Given the description of an element on the screen output the (x, y) to click on. 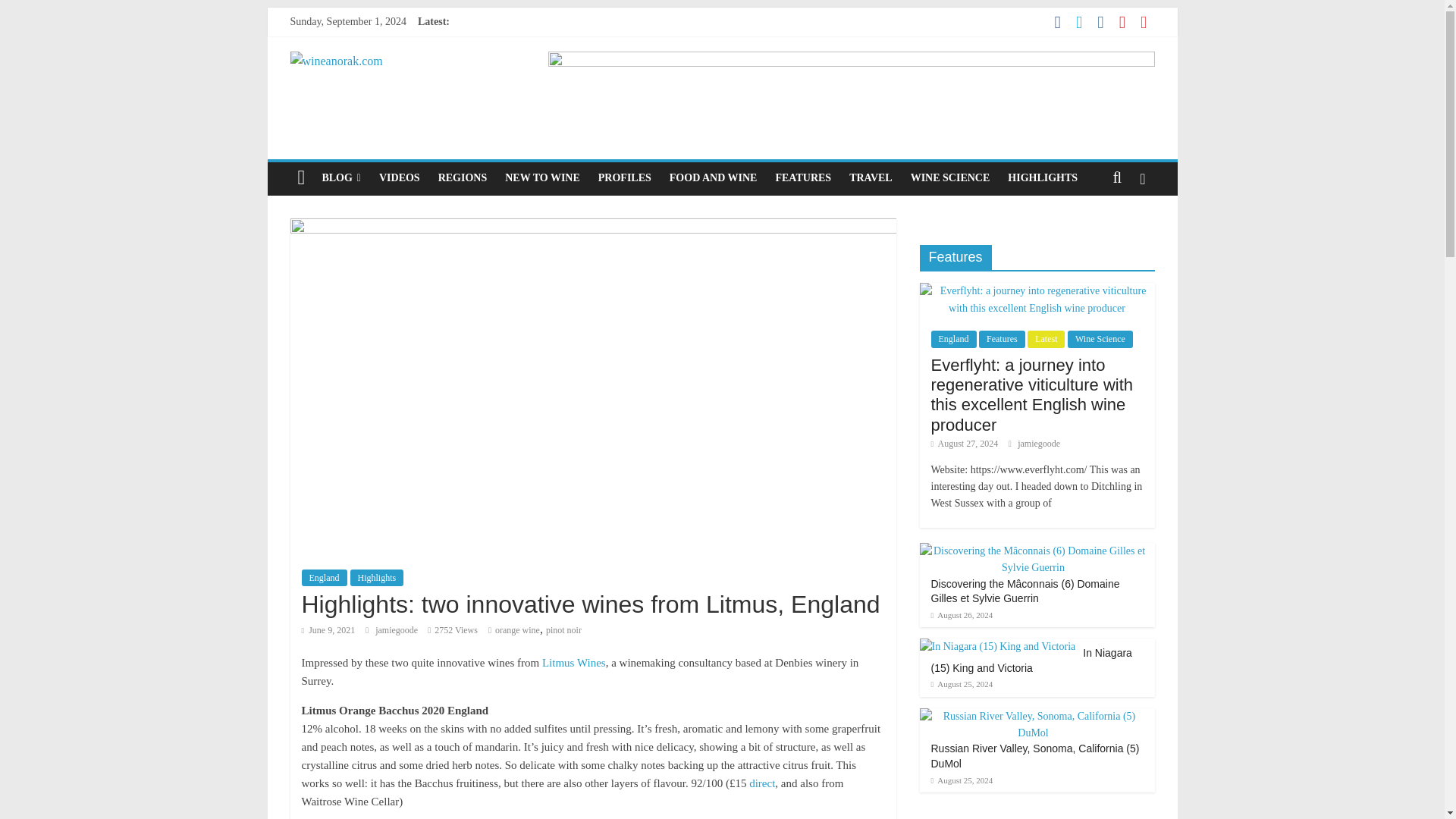
England (324, 577)
9:16 pm (328, 629)
Litmus Wines (573, 662)
WINE SCIENCE (949, 178)
HIGHLIGHTS (1042, 178)
VIDEOS (399, 178)
pinot noir (563, 629)
TRAVEL (870, 178)
Download This Theme (341, 178)
FEATURES (802, 178)
